Given the description of an element on the screen output the (x, y) to click on. 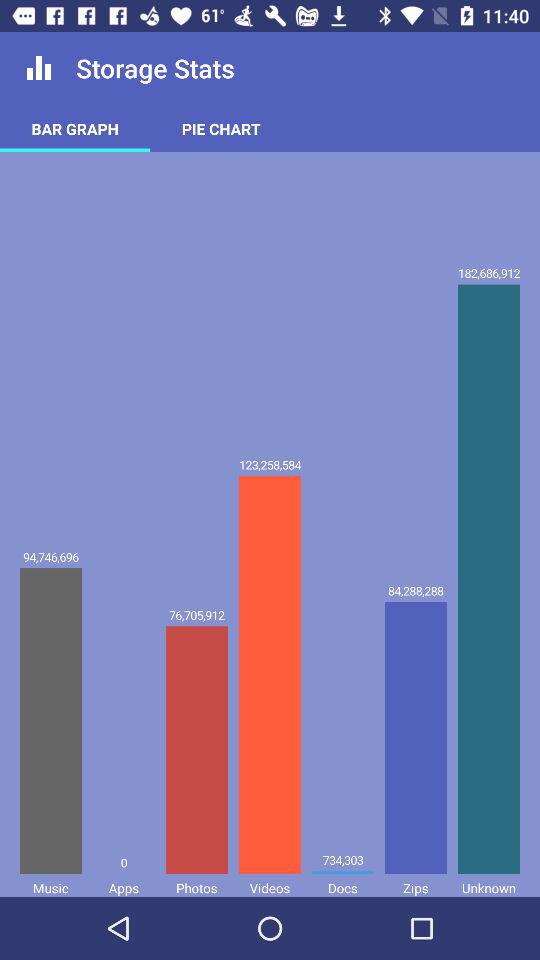
launch pie chart (221, 128)
